Given the description of an element on the screen output the (x, y) to click on. 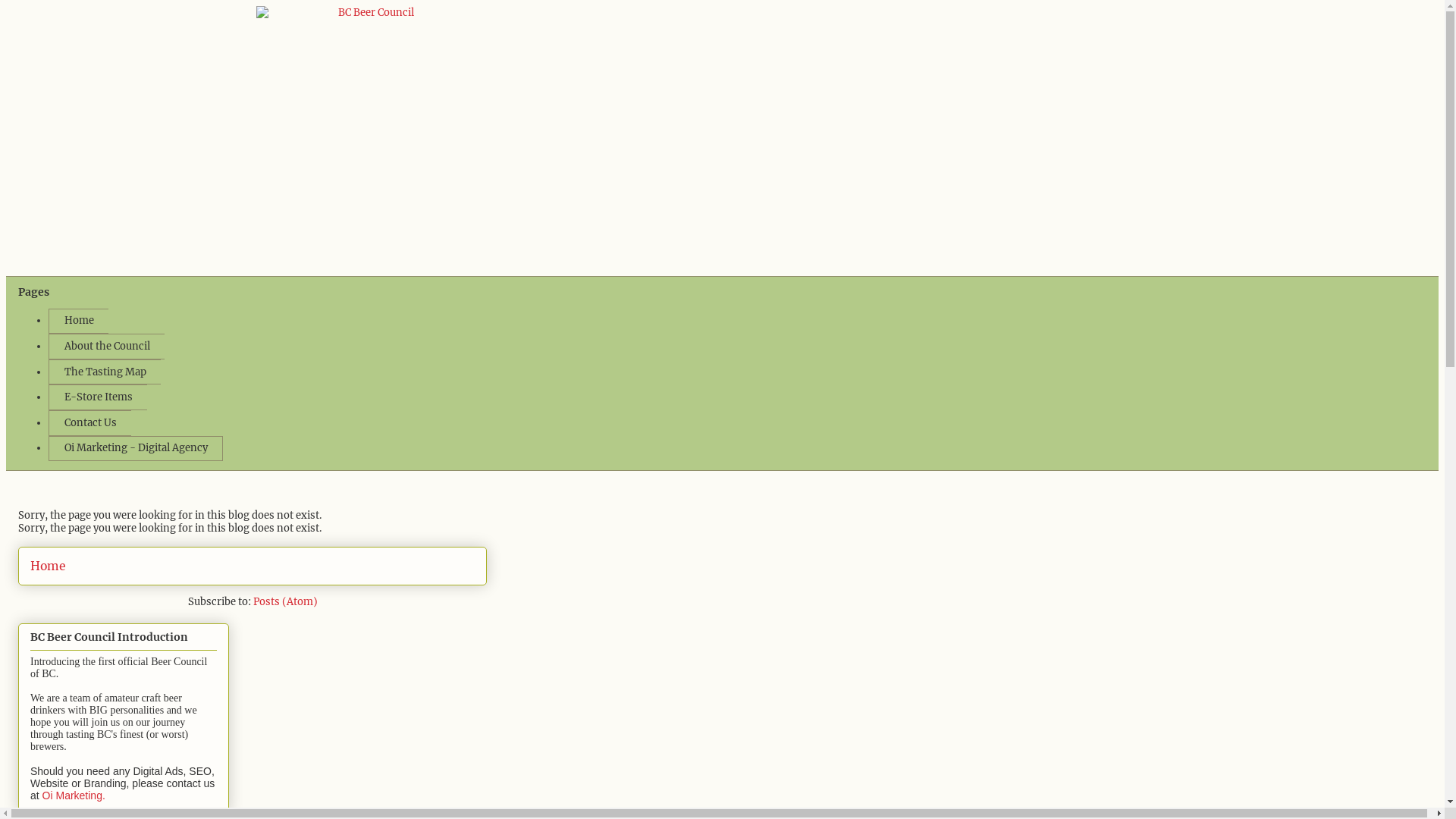
Oi Marketing. Element type: text (73, 795)
Contact Us Element type: text (89, 423)
The Tasting Map Element type: text (104, 372)
Home Element type: text (78, 321)
Home Element type: text (47, 565)
About the Council Element type: text (106, 346)
Posts (Atom) Element type: text (285, 601)
E-Store Items Element type: text (97, 397)
Oi Marketing - Digital Agency Element type: text (135, 448)
